Given the description of an element on the screen output the (x, y) to click on. 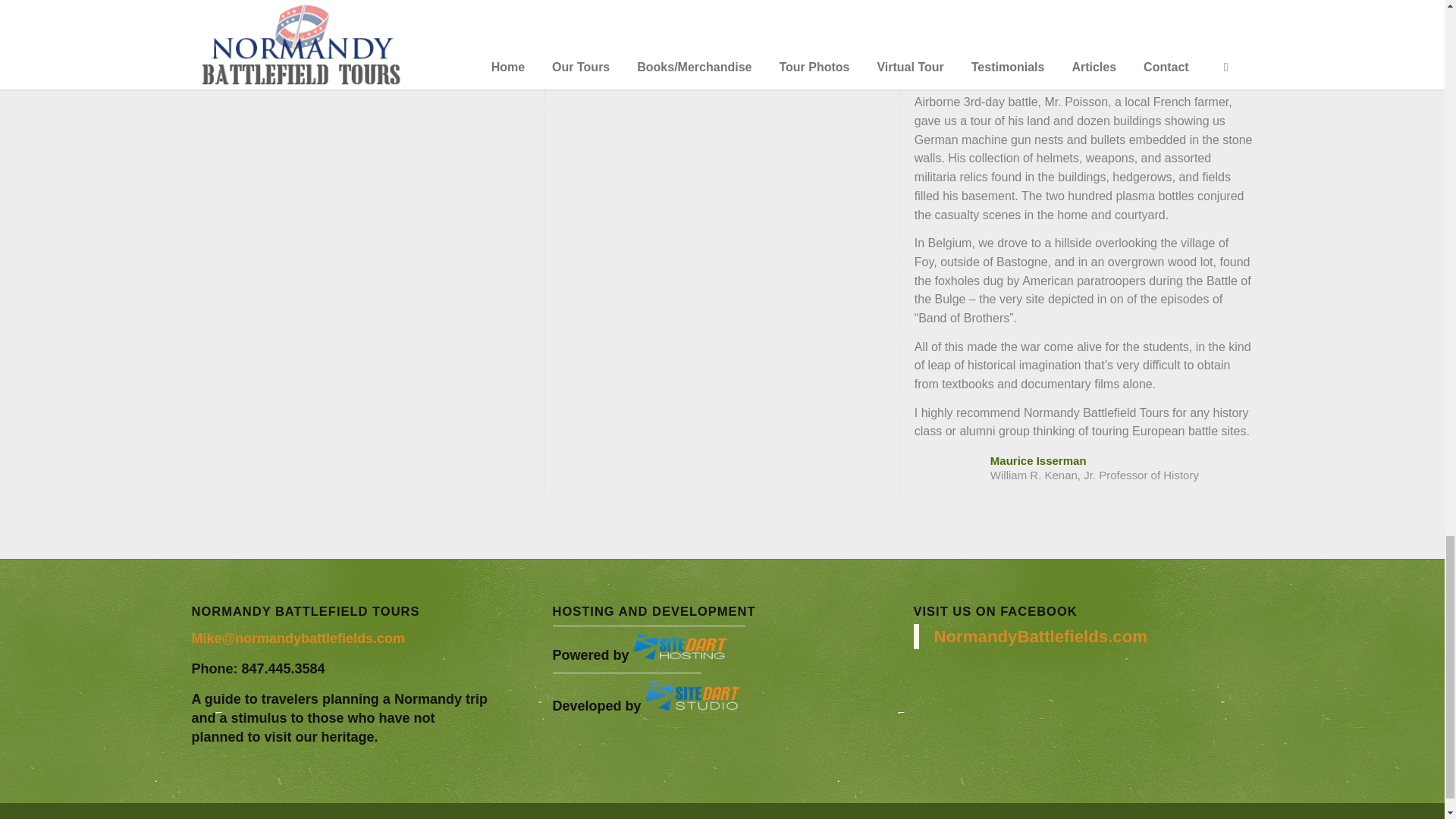
NormandyBattlefields.com (1041, 636)
Facebook (1241, 815)
